Given the description of an element on the screen output the (x, y) to click on. 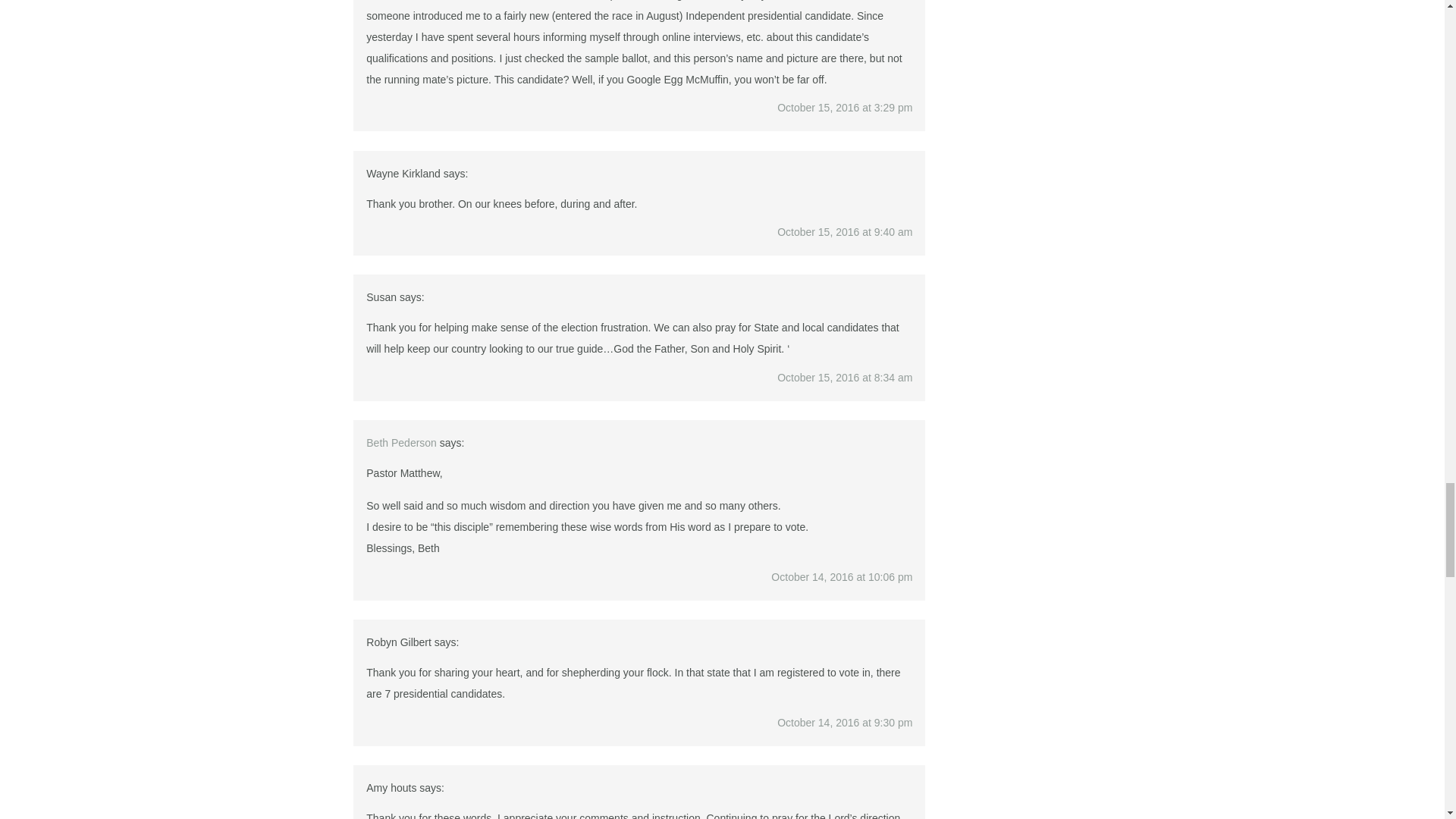
October 15, 2016 at 8:34 am (844, 377)
October 15, 2016 at 3:29 pm (844, 107)
October 15, 2016 at 9:40 am (844, 232)
